Given the description of an element on the screen output the (x, y) to click on. 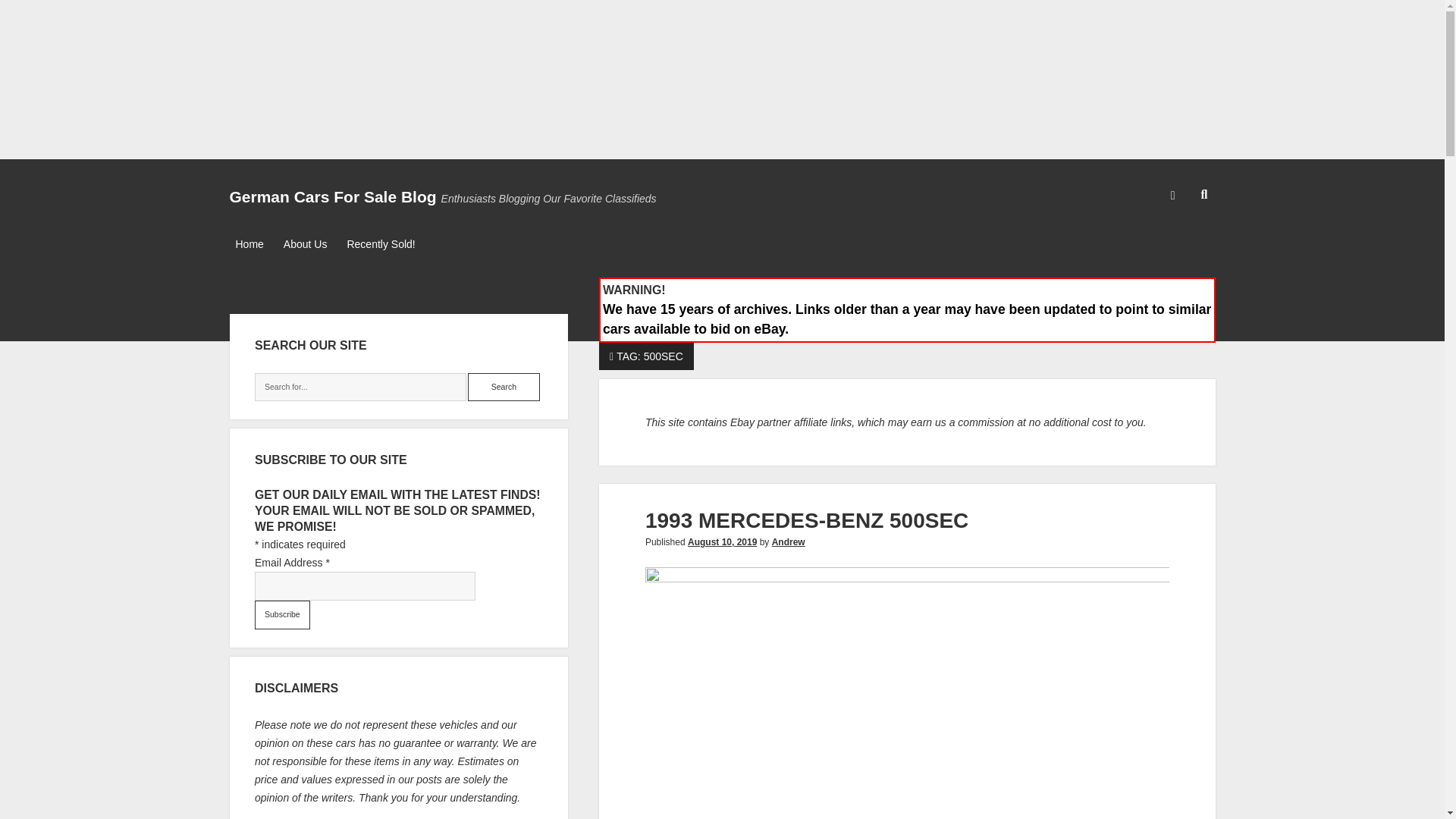
August 10, 2019 (722, 542)
Home (248, 244)
1993 MERCEDES-BENZ 500SEC (806, 520)
Search (503, 387)
Subscribe (282, 614)
About Us (305, 244)
Andrew (788, 542)
Recently Sold! (380, 244)
Search for: (359, 387)
German Cars For Sale Blog (331, 196)
